Given the description of an element on the screen output the (x, y) to click on. 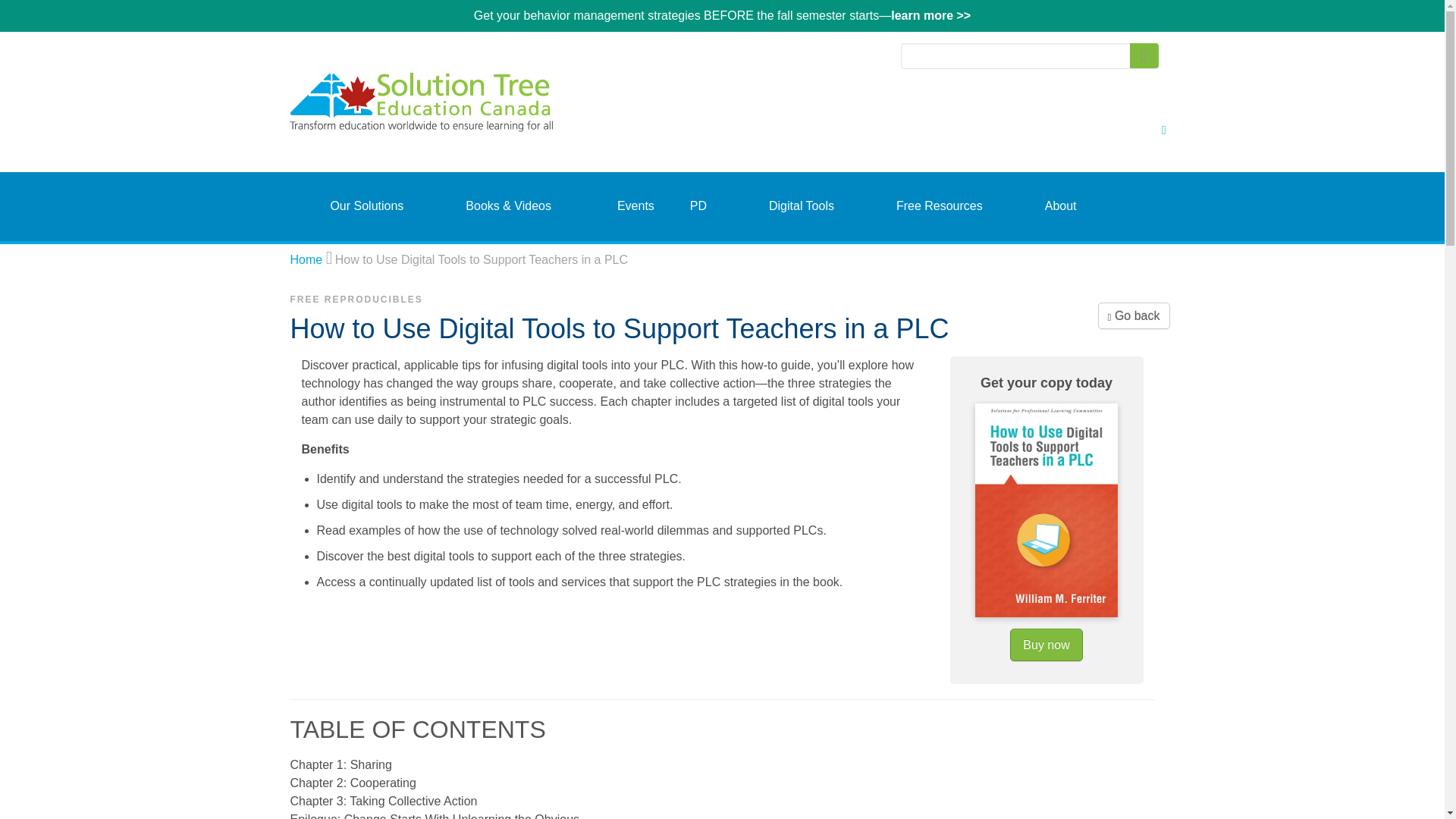
Go to Home Page (305, 259)
Search (1143, 55)
Our Solutions (366, 205)
Search (1143, 55)
